Given the description of an element on the screen output the (x, y) to click on. 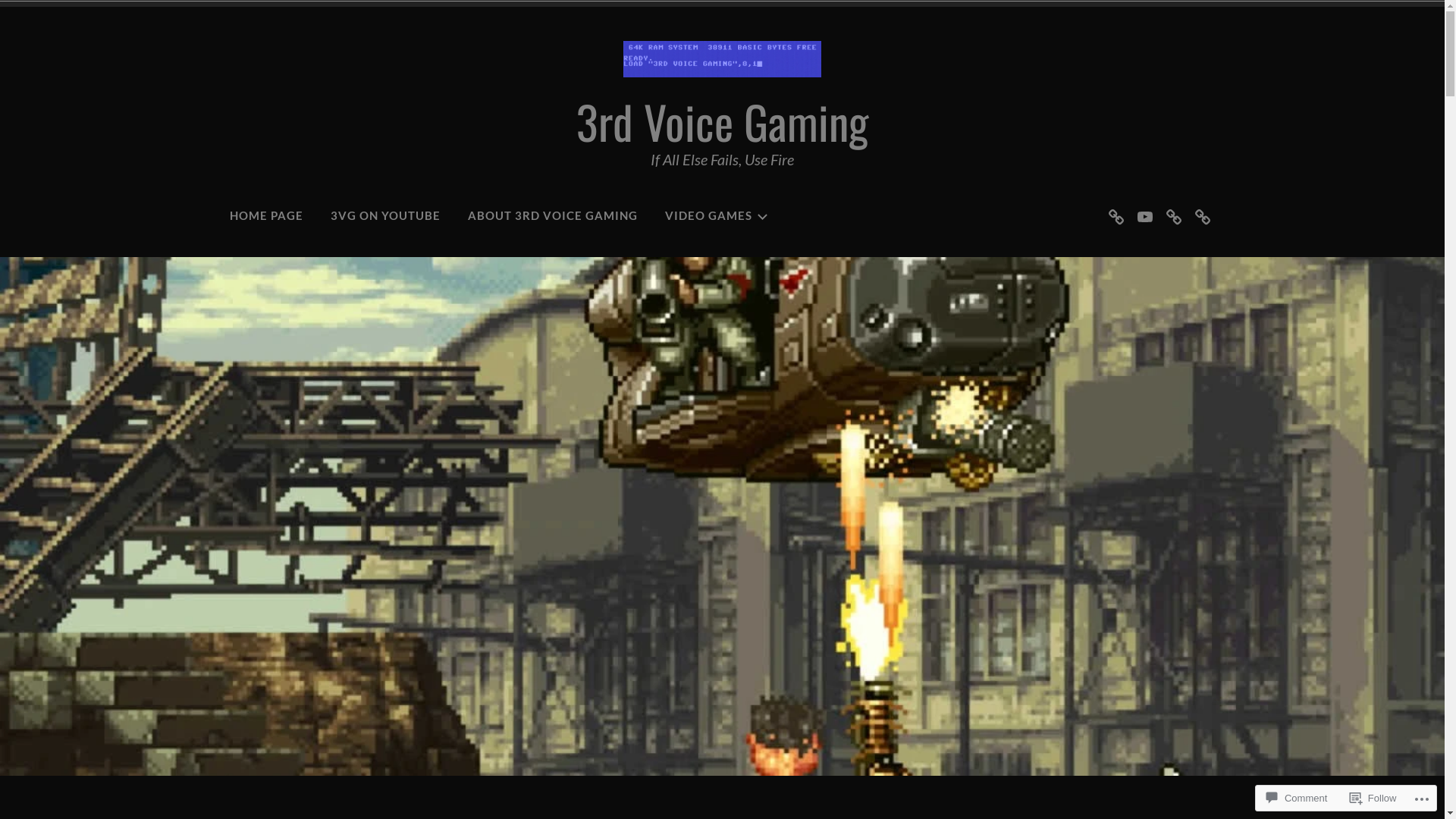
3VG ON YOUTUBE Element type: text (384, 215)
HOME PAGE Element type: text (266, 215)
VIDEO GAMES Element type: text (716, 215)
Follow Element type: text (1372, 797)
ABOUT 3RD VOICE GAMING Element type: text (552, 215)
Comment Element type: text (1296, 797)
3rd Voice Gaming Element type: text (722, 120)
